Given the description of an element on the screen output the (x, y) to click on. 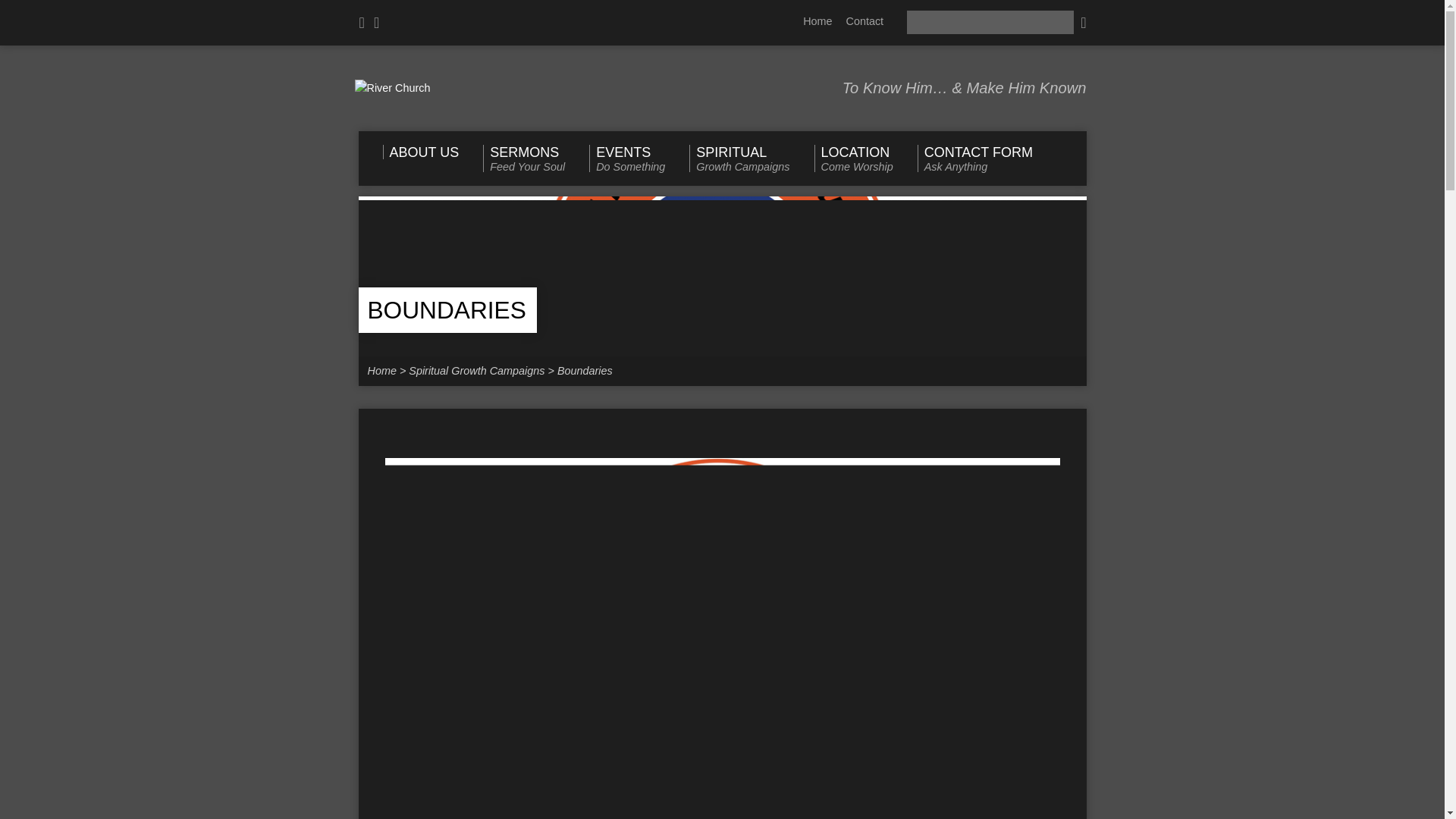
BOUNDARIES (445, 309)
Boundaries (974, 157)
Contact (584, 370)
Spiritual Growth Campaigns (864, 21)
ABOUT US (476, 370)
Home (419, 151)
Home (381, 370)
